Given the description of an element on the screen output the (x, y) to click on. 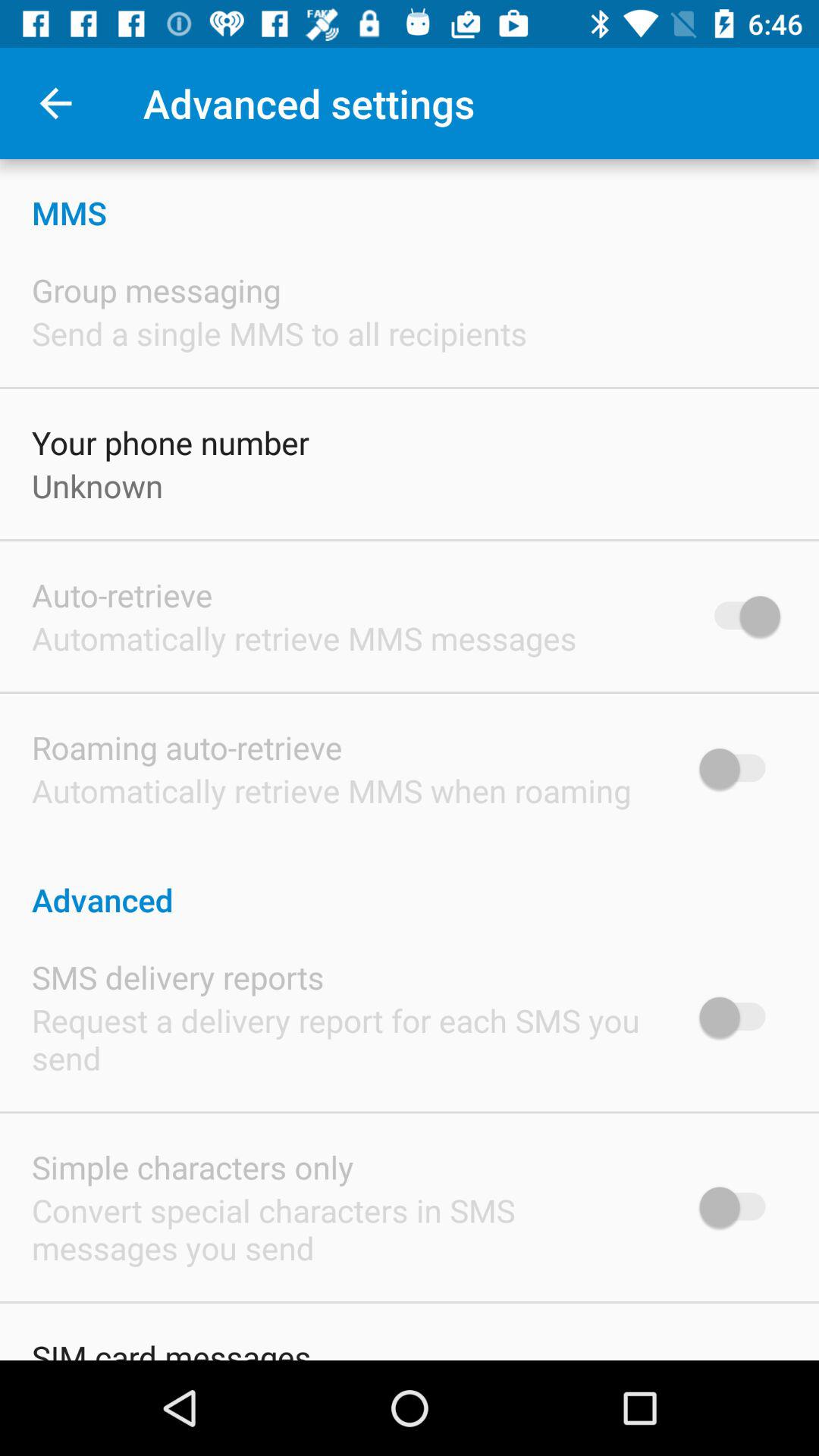
scroll until convert special characters icon (345, 1228)
